Given the description of an element on the screen output the (x, y) to click on. 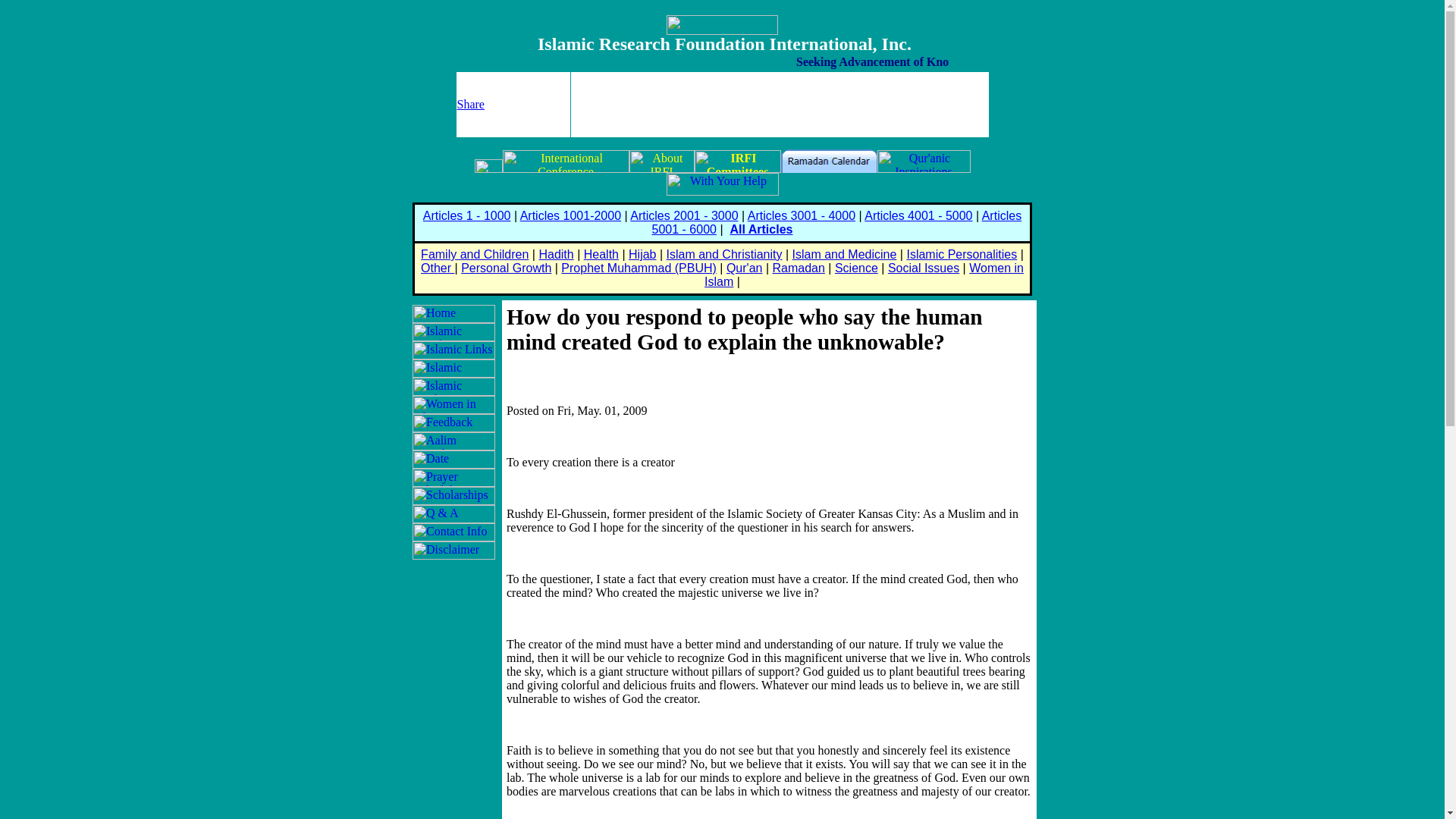
Hadith (555, 254)
Personal Growth (506, 267)
Share (470, 103)
Islamic Personalities (960, 254)
Islam and Medicine (844, 254)
Articles 3001 - 4000 (802, 215)
Islam and Christianity (724, 254)
Qur'an (744, 267)
Other (437, 267)
Science (855, 267)
